Given the description of an element on the screen output the (x, y) to click on. 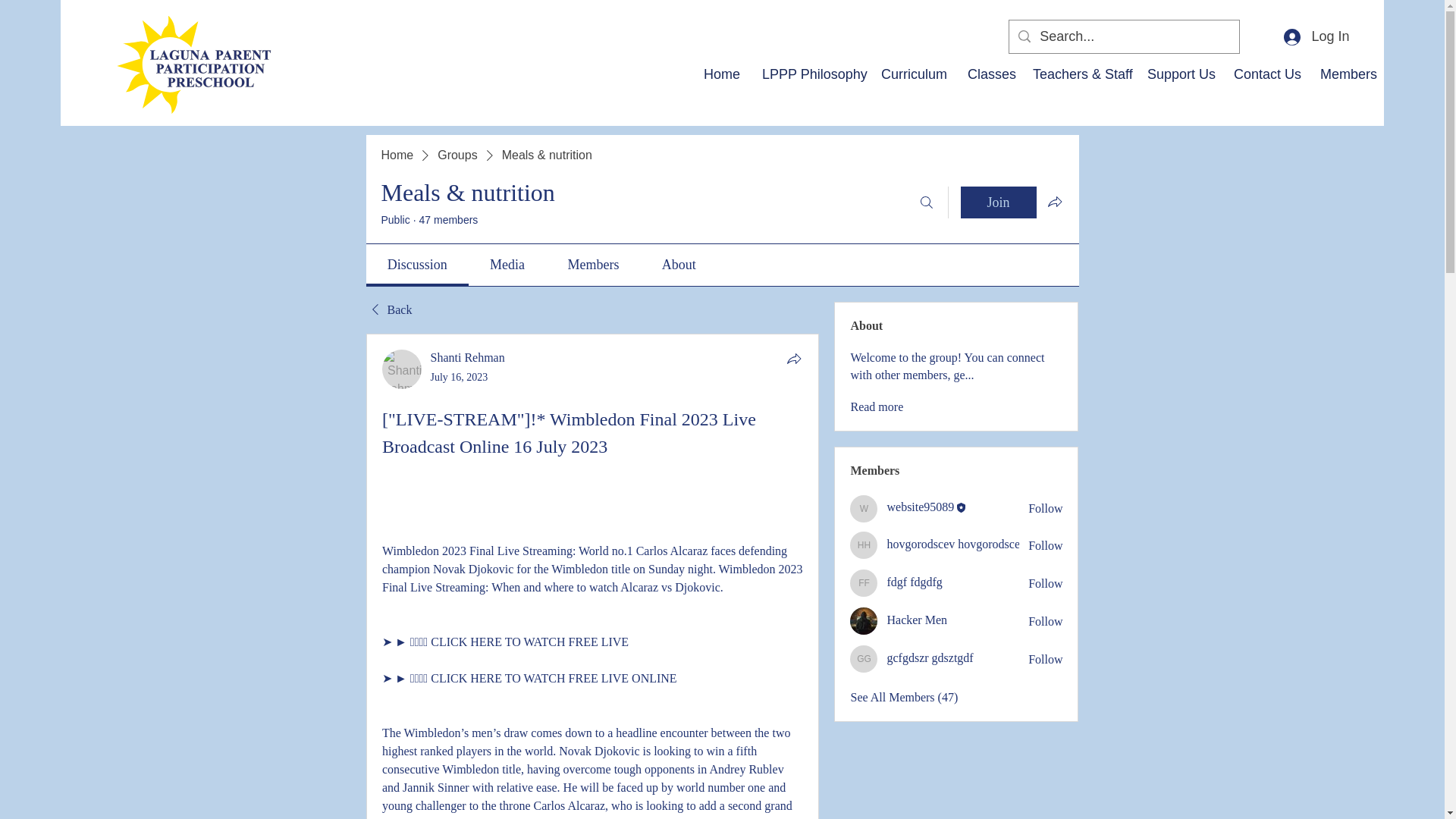
Support Us (1179, 74)
Home (396, 155)
Join (997, 202)
Hacker Men (863, 620)
Back (388, 310)
LPPP Philosophy (810, 74)
Home (722, 74)
fdgf fdgdfg (863, 583)
Groups (457, 155)
Members (1345, 74)
